Given the description of an element on the screen output the (x, y) to click on. 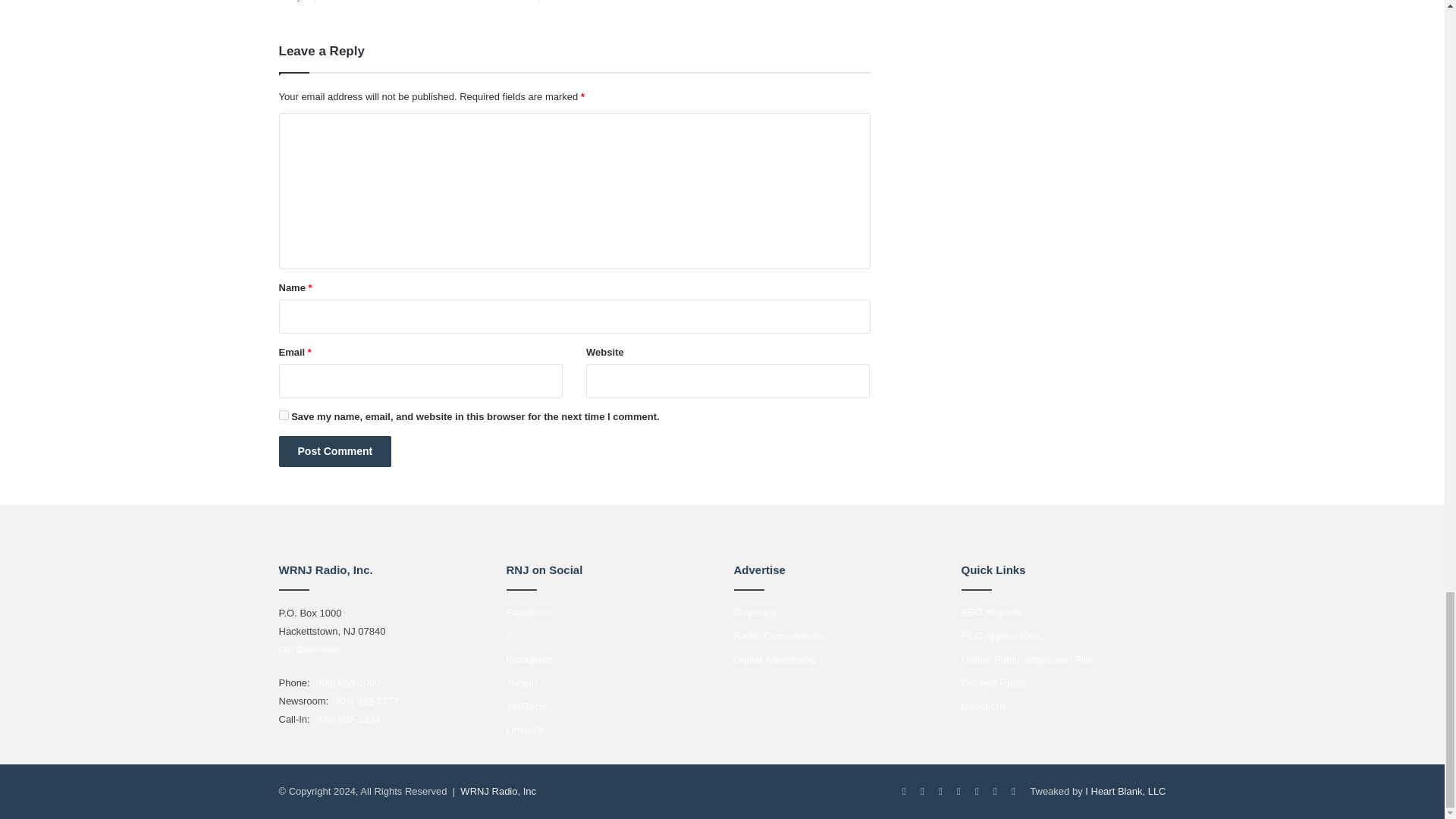
yes (283, 415)
Post Comment (335, 450)
